Given the description of an element on the screen output the (x, y) to click on. 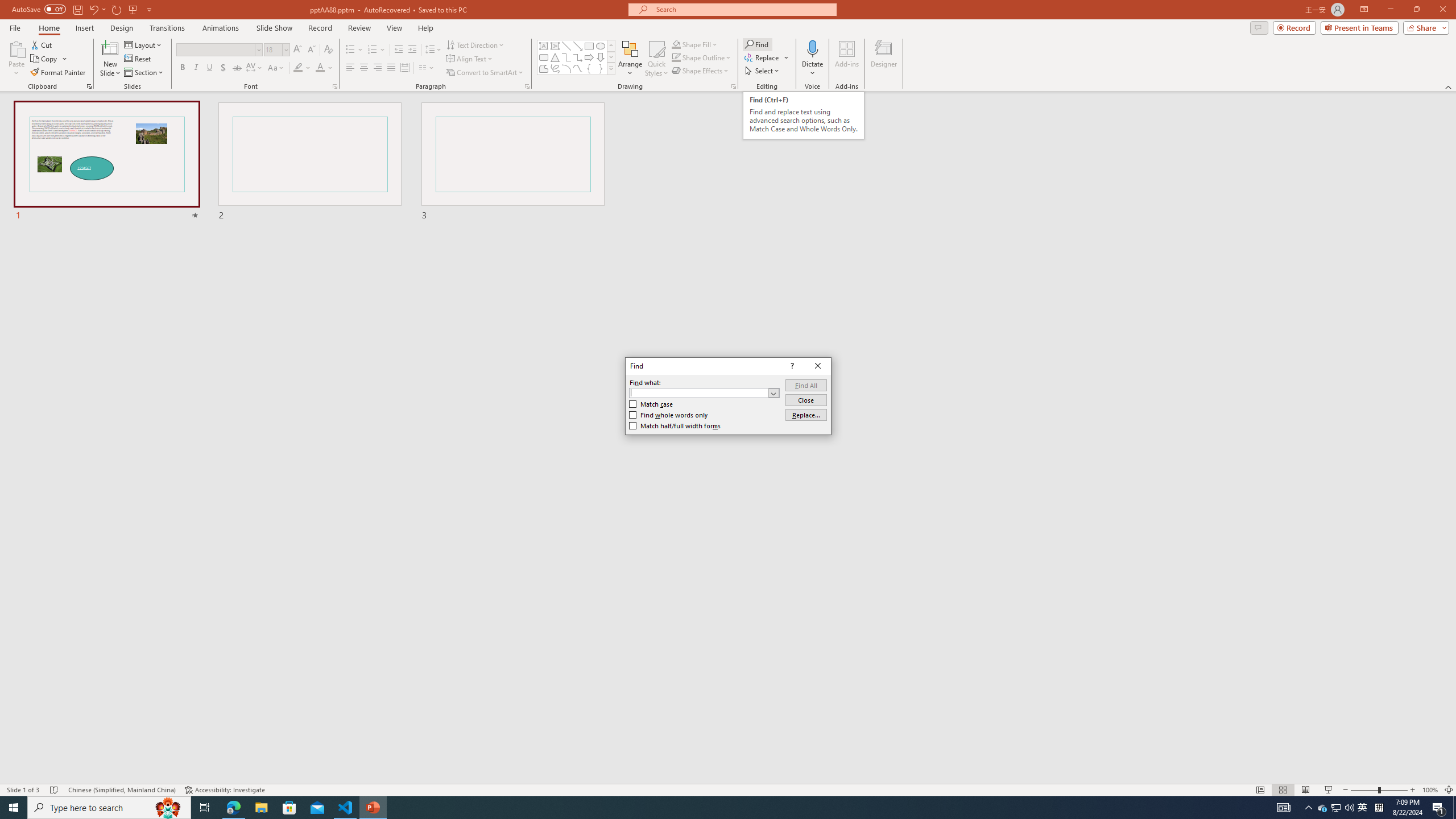
Shape Effects (700, 69)
Microsoft Edge - 1 running window (233, 807)
